Given the description of an element on the screen output the (x, y) to click on. 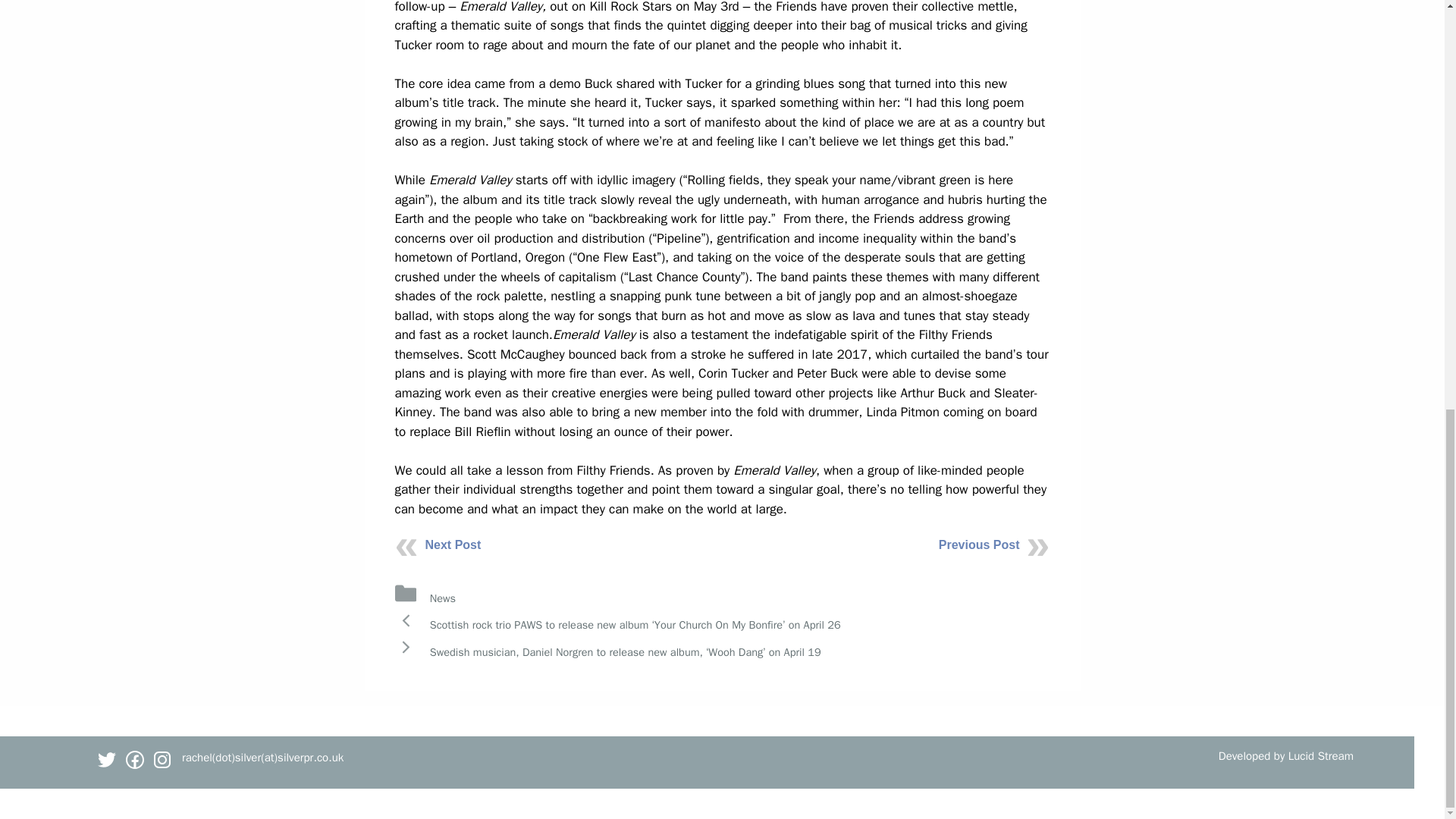
Next Post (452, 544)
News (442, 597)
Next (625, 652)
Lucid Stream (1321, 755)
Previous Post (979, 544)
Previous (635, 624)
